Given the description of an element on the screen output the (x, y) to click on. 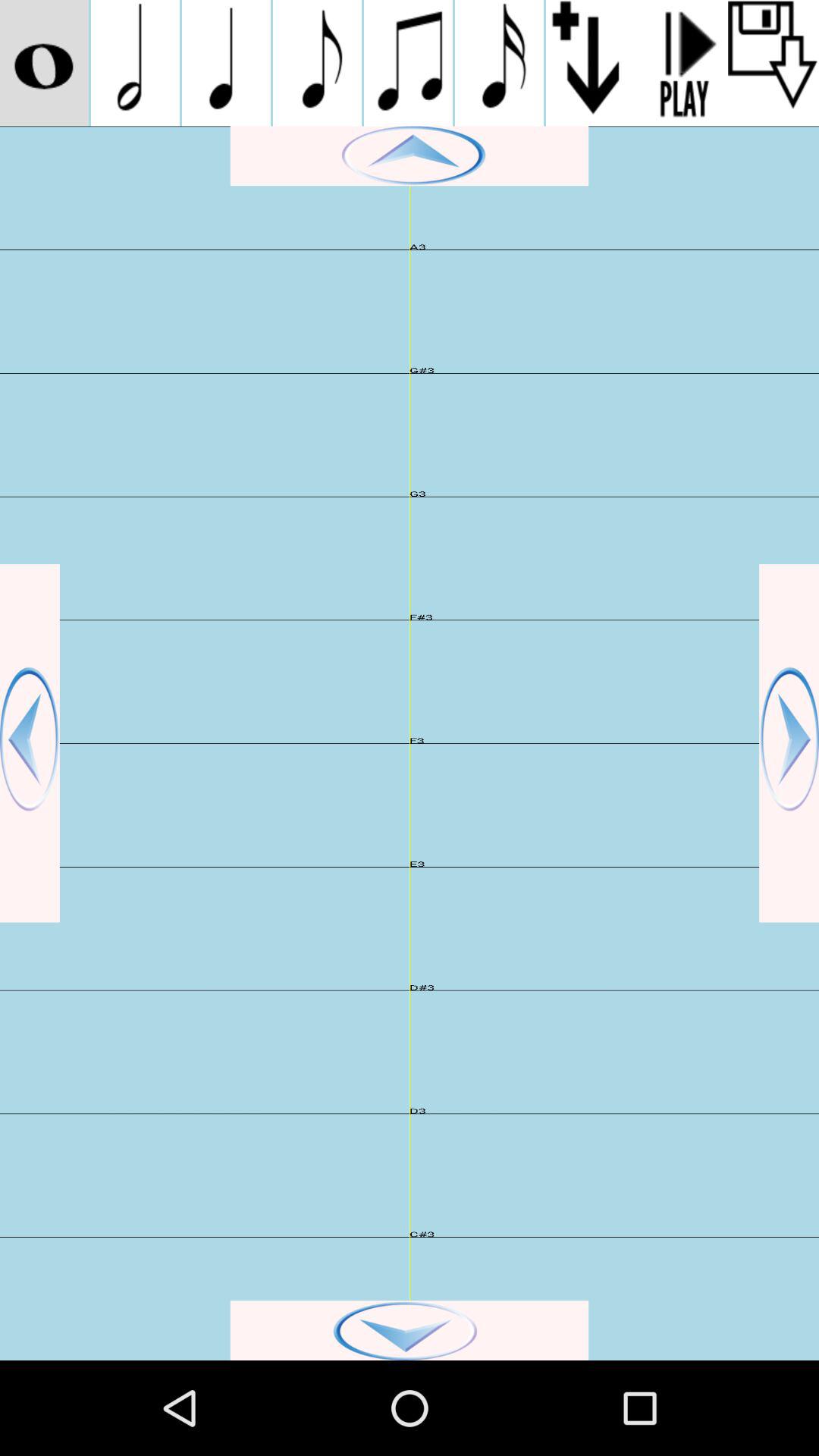
play and pause button (682, 63)
